Given the description of an element on the screen output the (x, y) to click on. 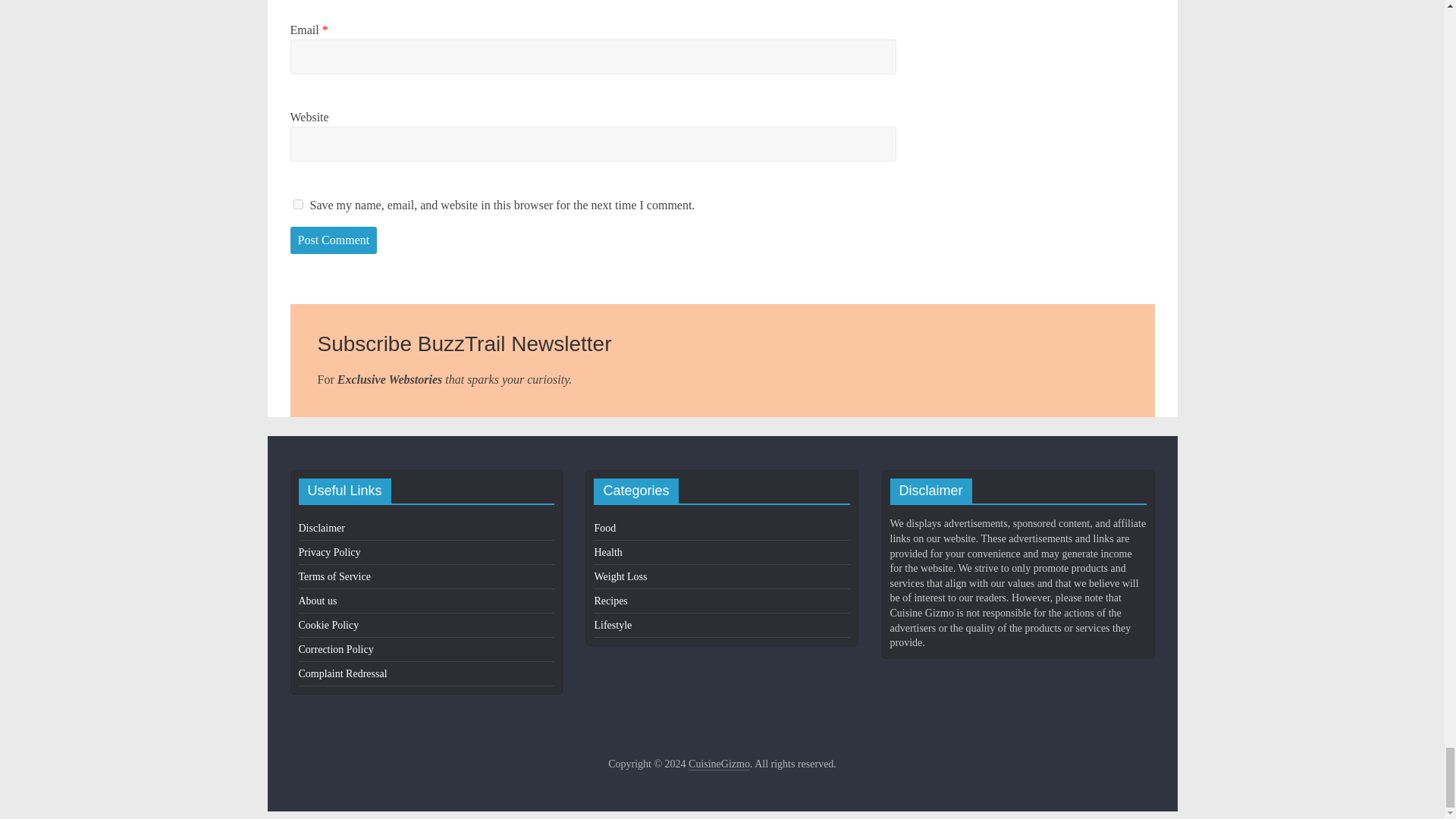
yes (297, 204)
Post Comment (333, 239)
